Given the description of an element on the screen output the (x, y) to click on. 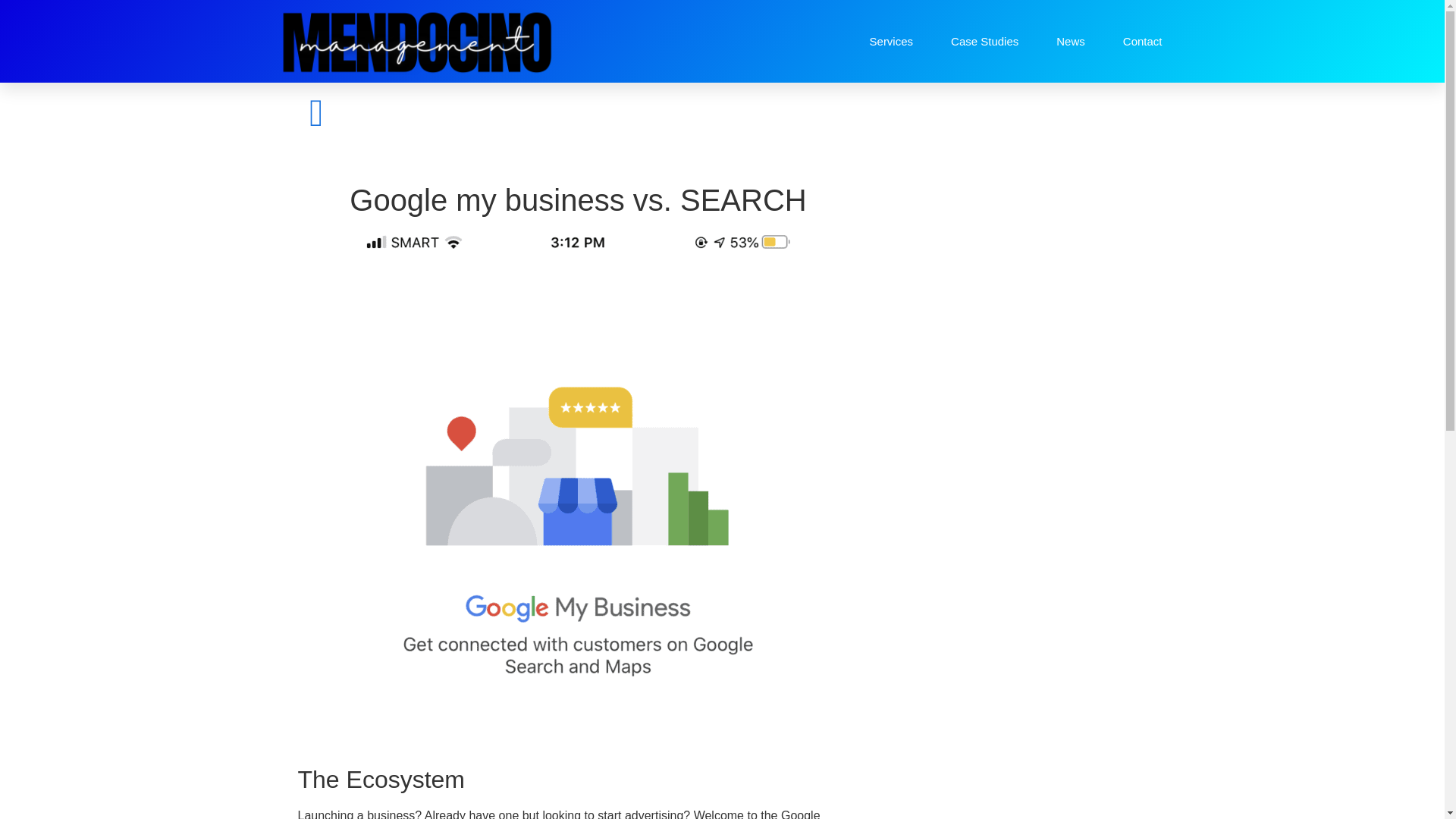
Case Studies (983, 41)
